Given the description of an element on the screen output the (x, y) to click on. 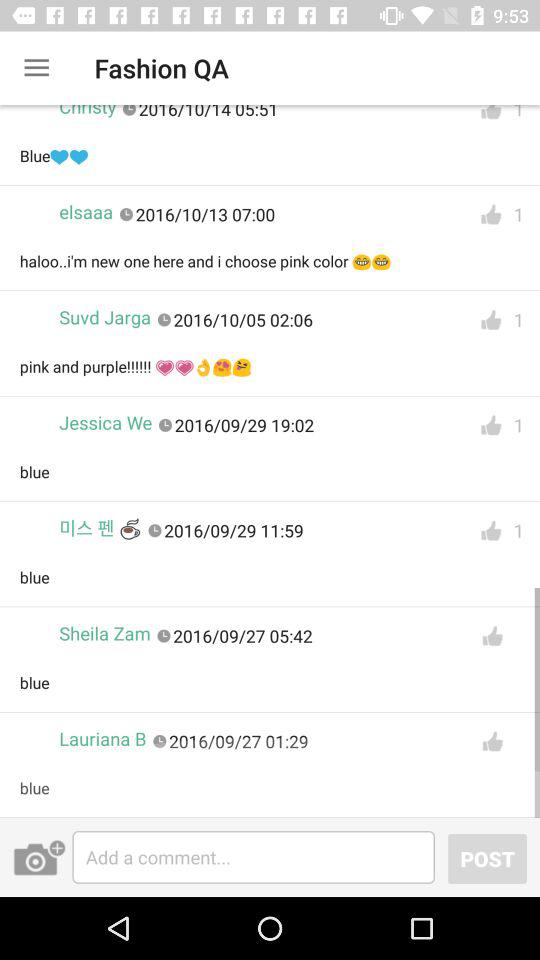
like comment (491, 214)
